Given the description of an element on the screen output the (x, y) to click on. 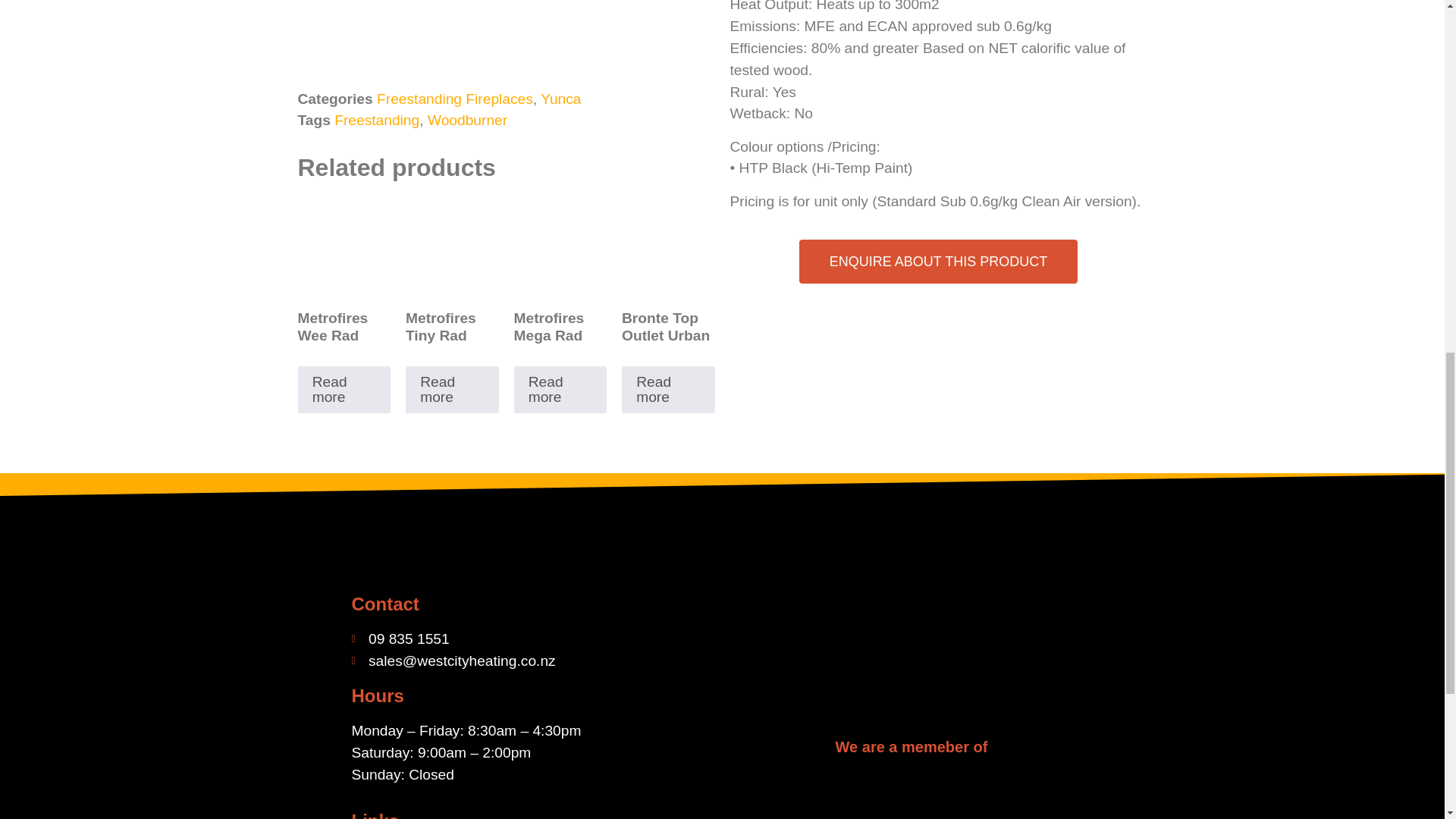
Yunca (560, 98)
Freestanding (376, 119)
ENQUIRE ABOUT THIS PRODUCT (937, 261)
Woodburner (467, 119)
09 835 1551 (533, 639)
Read more (343, 389)
Read more (560, 389)
Freestanding Fireplaces (454, 98)
Read more (667, 389)
Read more (452, 389)
